Given the description of an element on the screen output the (x, y) to click on. 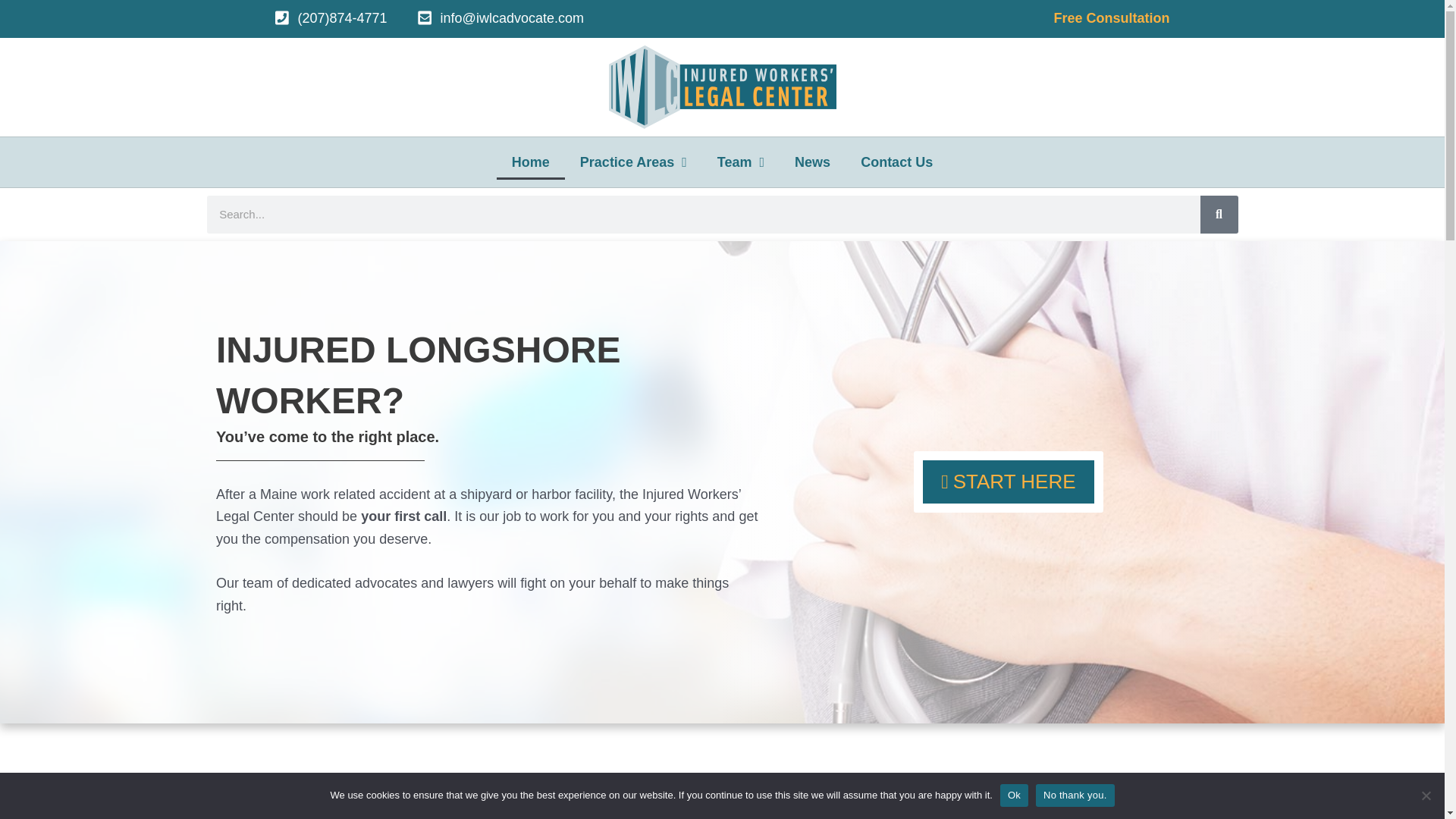
No thank you. (1425, 795)
Team (739, 161)
News (811, 161)
Home (530, 161)
Contact Us (896, 161)
Free Consultation (1110, 18)
Practice Areas (632, 161)
